Given the description of an element on the screen output the (x, y) to click on. 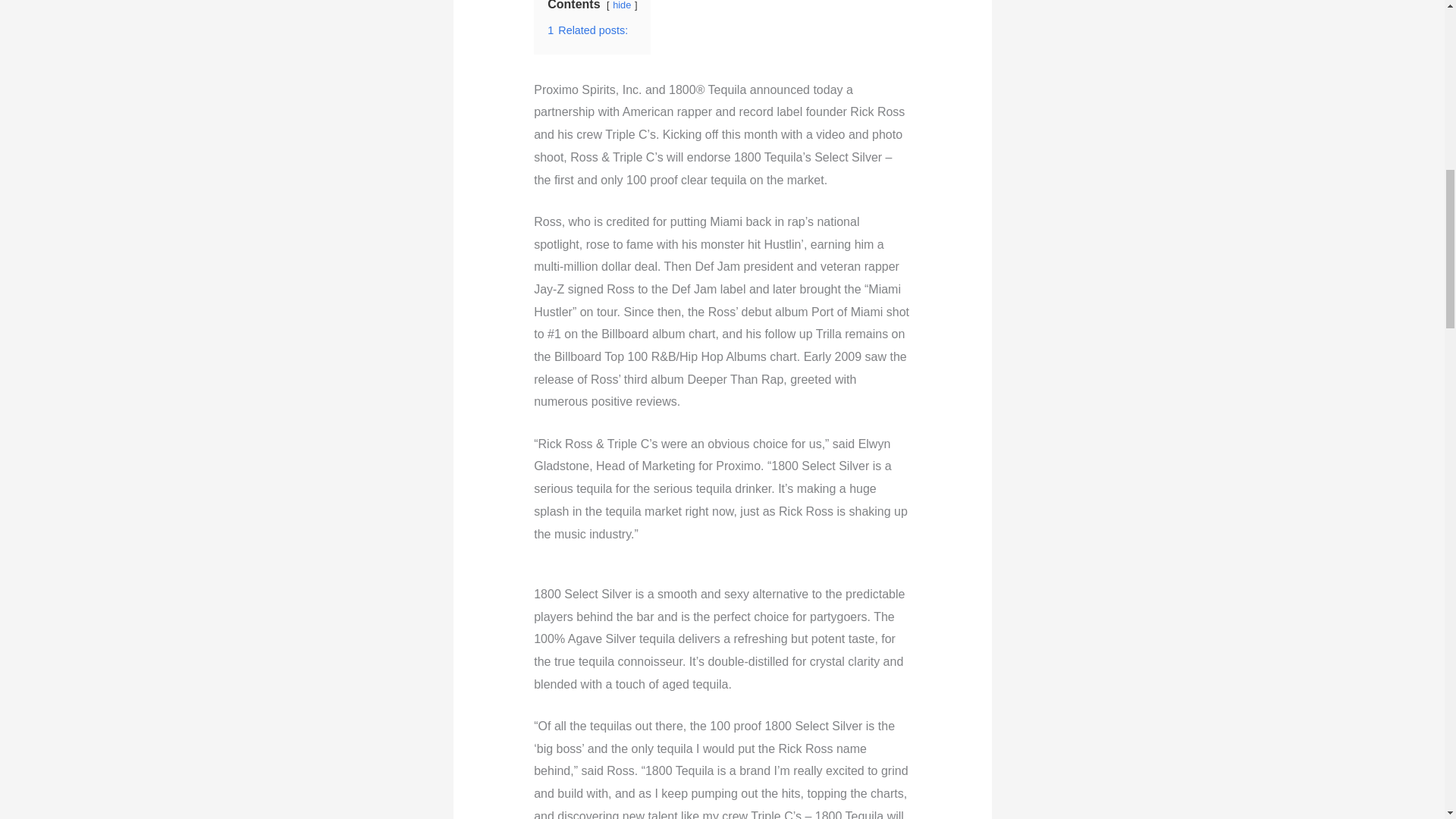
1 Related posts: (587, 30)
hide (621, 5)
